Given the description of an element on the screen output the (x, y) to click on. 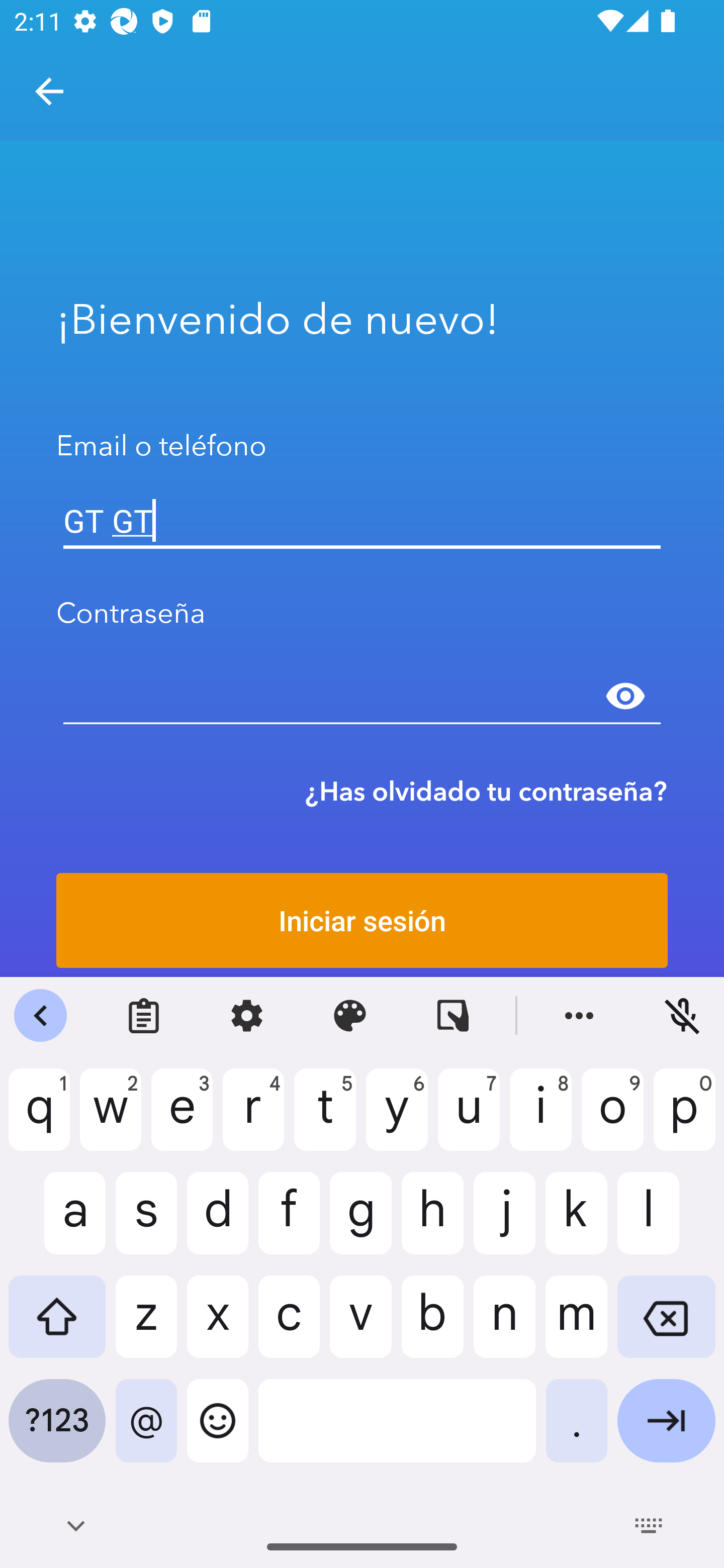
Navegar hacia arriba (49, 91)
GT GT (361, 521)
Mostrar contraseña (625, 695)
¿Has olvidado tu contraseña? (486, 790)
Iniciar sesión (361, 920)
